Given the description of an element on the screen output the (x, y) to click on. 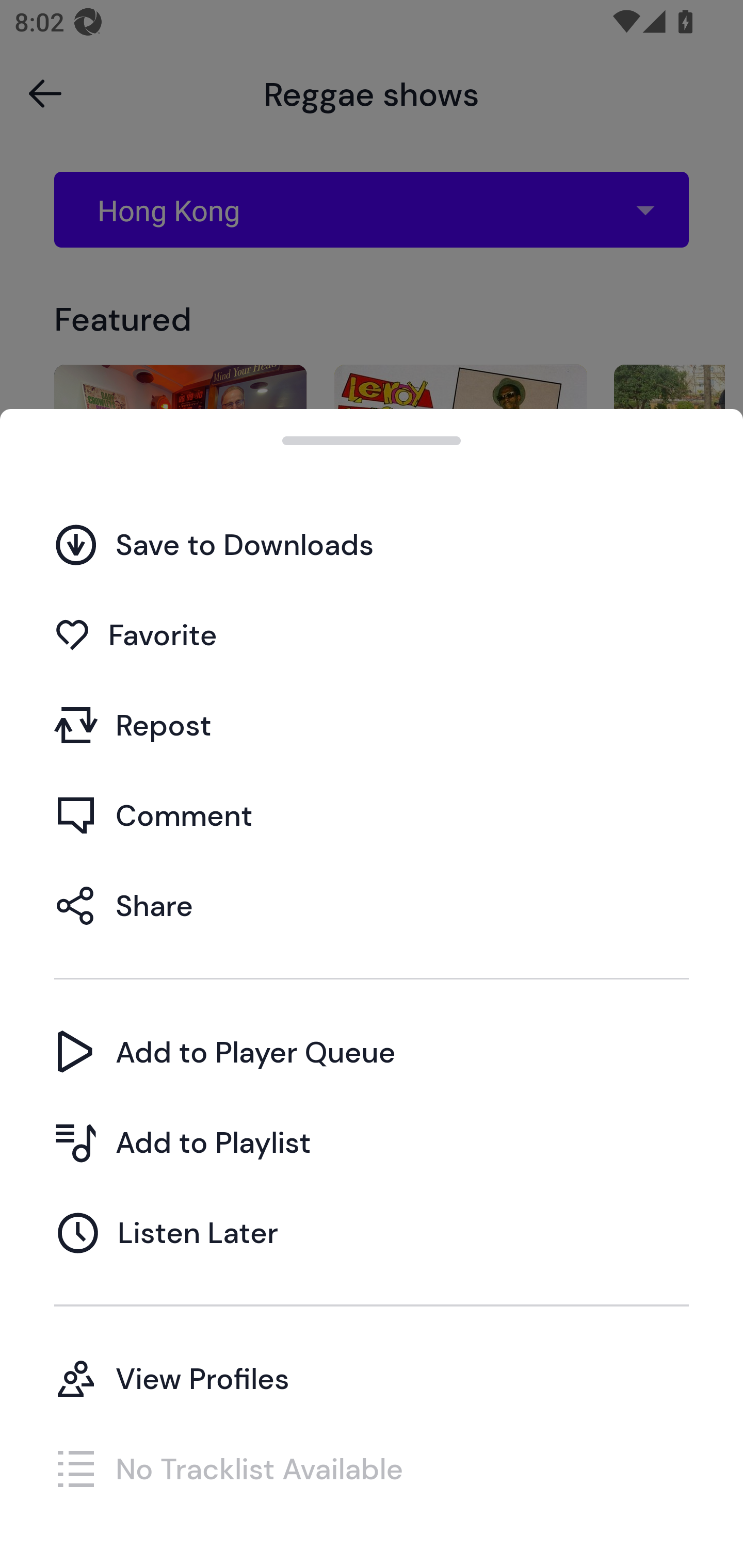
Save to Downloads (371, 543)
Favorite (371, 634)
Repost (371, 724)
Comment (371, 814)
Share (371, 905)
Add to Player Queue (371, 1051)
Add to Playlist (371, 1141)
Listen Later (371, 1231)
View Profiles (371, 1377)
No Tracklist Available (371, 1468)
